Given the description of an element on the screen output the (x, y) to click on. 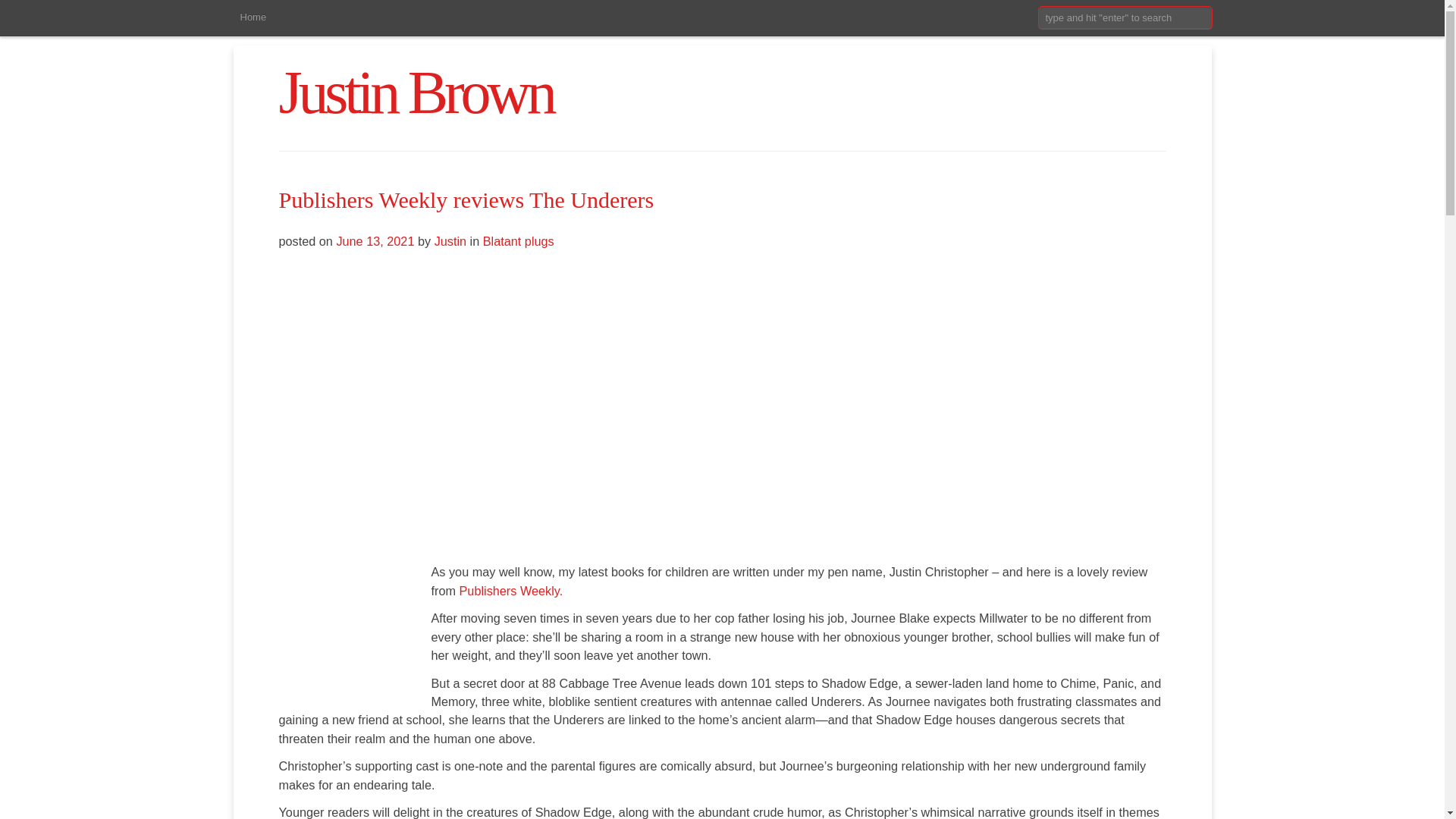
Justin Brown (416, 92)
Posts by Justin (449, 241)
Publishers Weekly. (511, 590)
Home (252, 18)
Permalink toPublishers Weekly reviews The Underers (466, 198)
Justin (449, 241)
June 13, 2021 (376, 241)
Publishers Weekly reviews The Underers (466, 198)
Justin Brown (416, 92)
Blatant plugs (518, 241)
Home (252, 18)
